Given the description of an element on the screen output the (x, y) to click on. 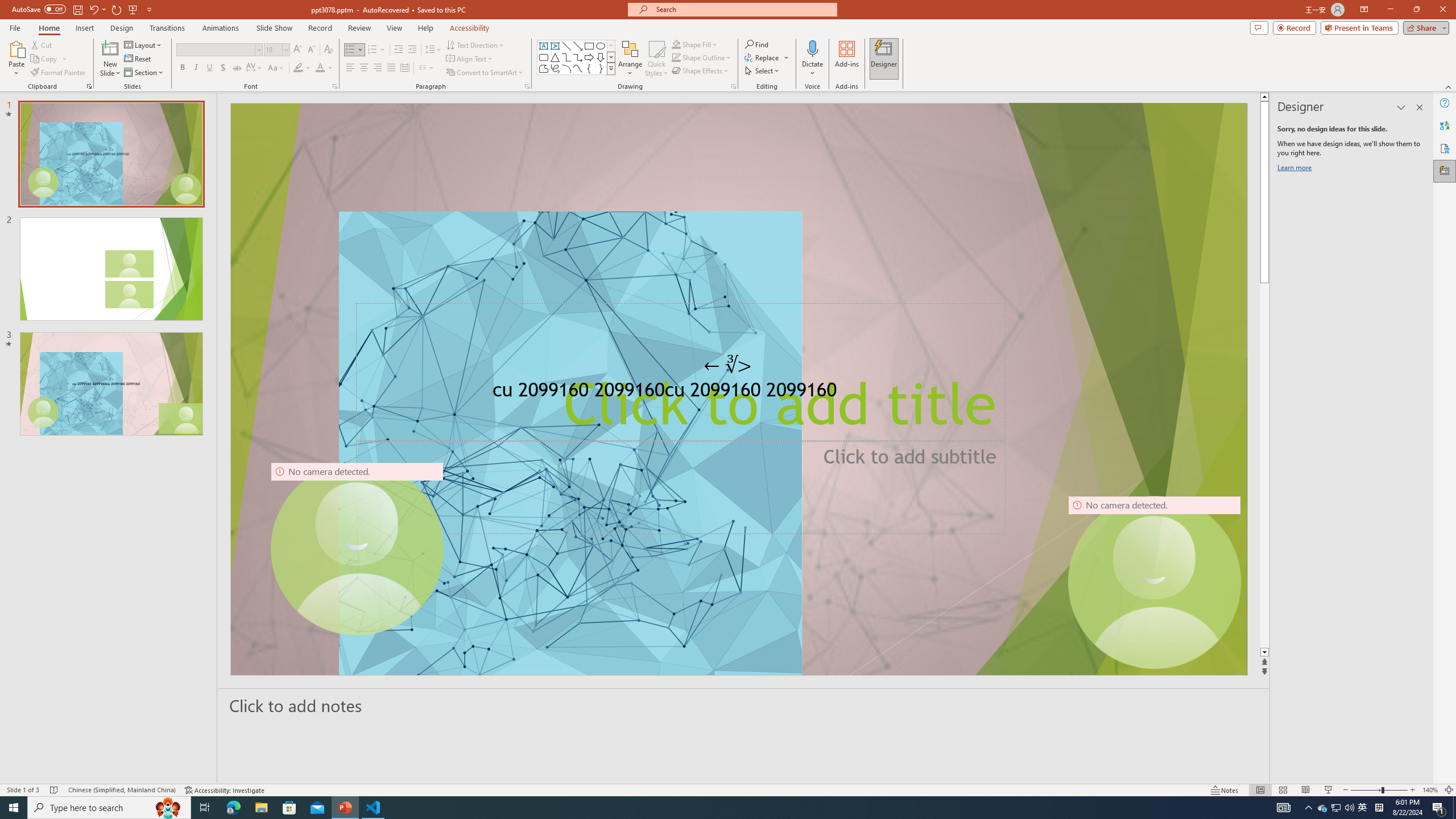
Learn more (1295, 169)
